Given the description of an element on the screen output the (x, y) to click on. 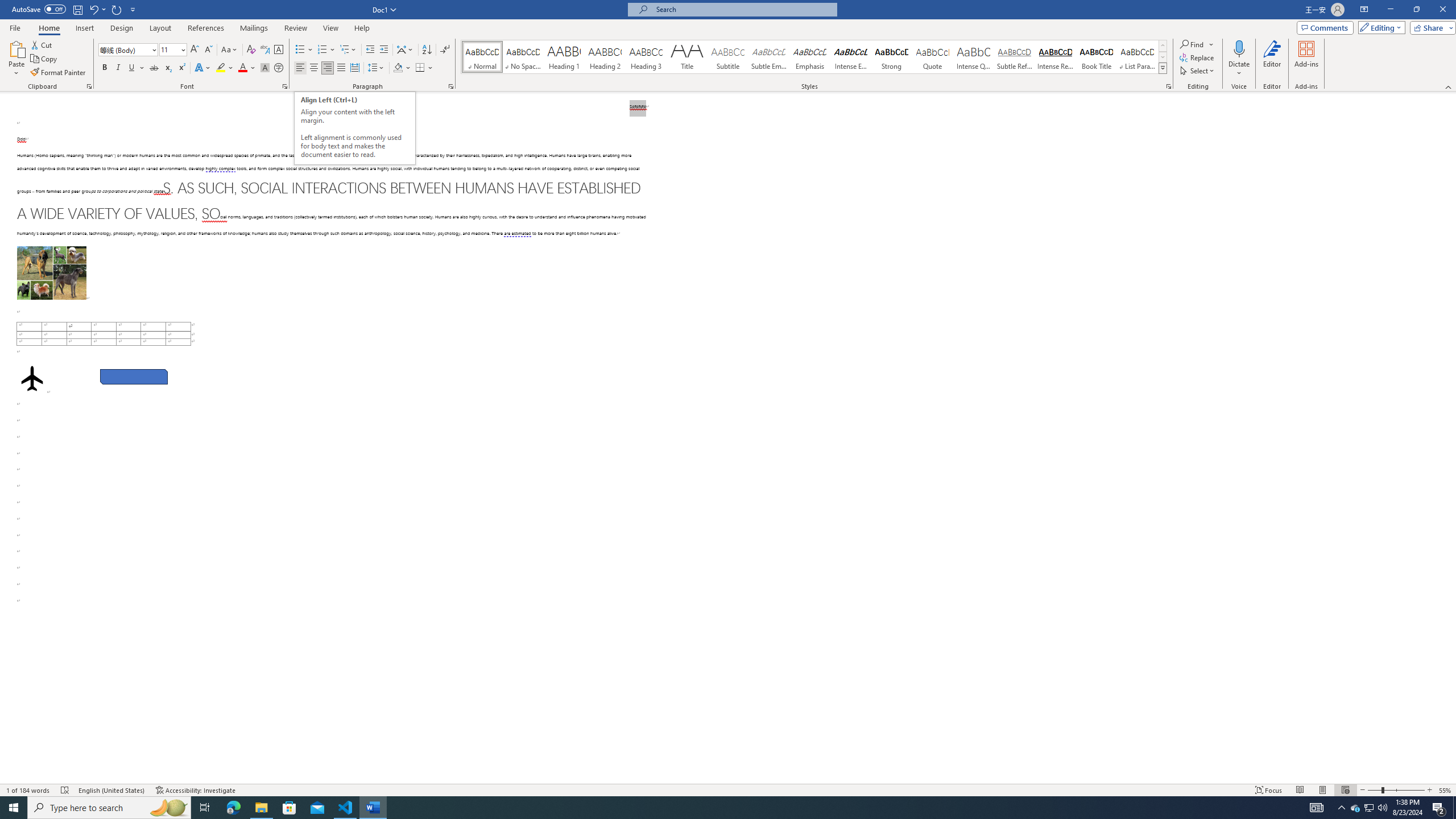
Font Color Red (241, 67)
Heading 2 (605, 56)
